Given the description of an element on the screen output the (x, y) to click on. 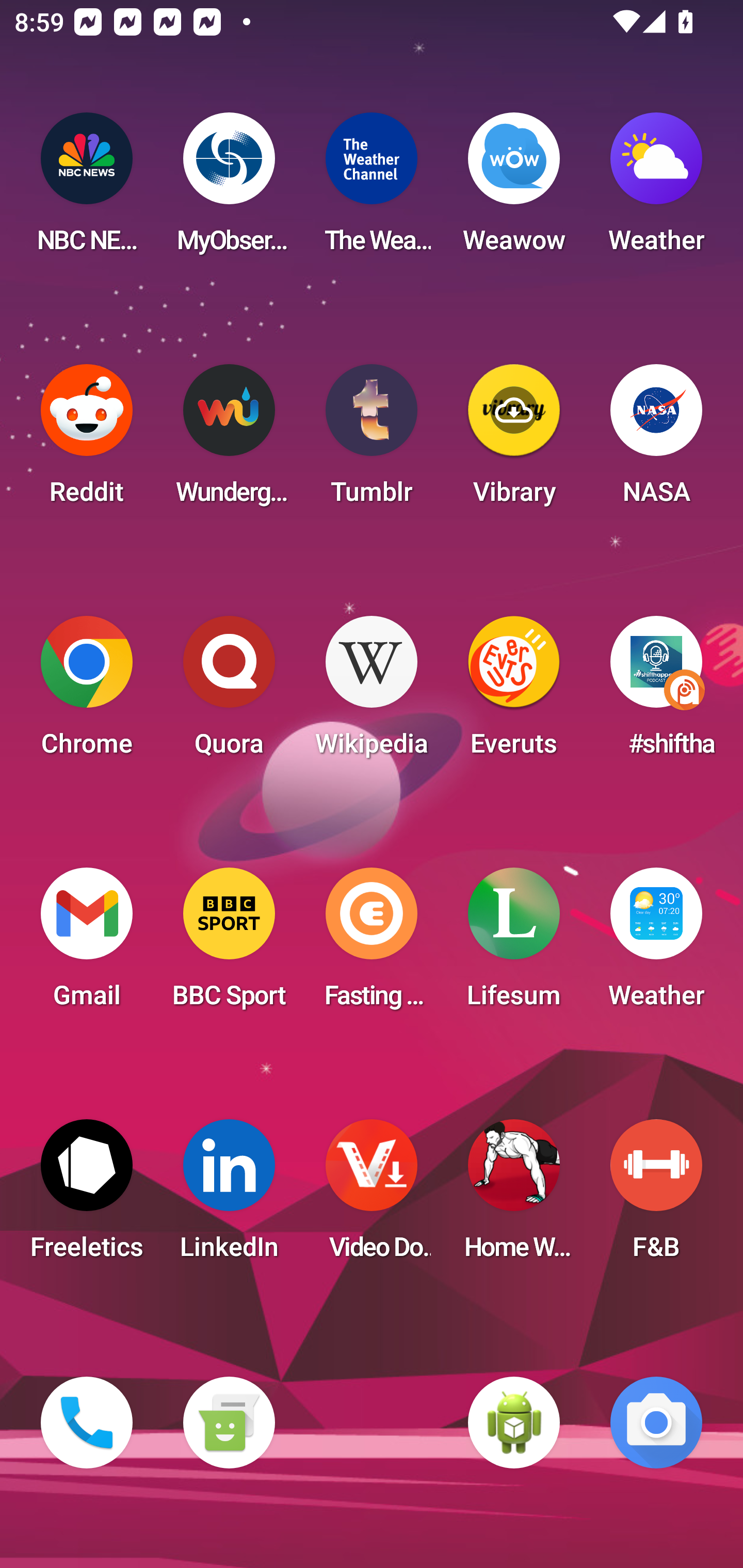
NBC NEWS (86, 188)
MyObservatory (228, 188)
The Weather Channel (371, 188)
Weawow (513, 188)
Weather (656, 188)
Reddit (86, 440)
Wunderground (228, 440)
Tumblr (371, 440)
Vibrary (513, 440)
NASA (656, 440)
Chrome (86, 692)
Quora (228, 692)
Wikipedia (371, 692)
Everuts (513, 692)
#shifthappens in the Digital Workplace Podcast (656, 692)
Gmail (86, 943)
BBC Sport (228, 943)
Fasting Coach (371, 943)
Lifesum (513, 943)
Weather (656, 943)
Freeletics (86, 1195)
LinkedIn (228, 1195)
Video Downloader & Ace Player (371, 1195)
Home Workout (513, 1195)
F&B (656, 1195)
Phone (86, 1422)
Messaging (228, 1422)
WebView Browser Tester (513, 1422)
Camera (656, 1422)
